Given the description of an element on the screen output the (x, y) to click on. 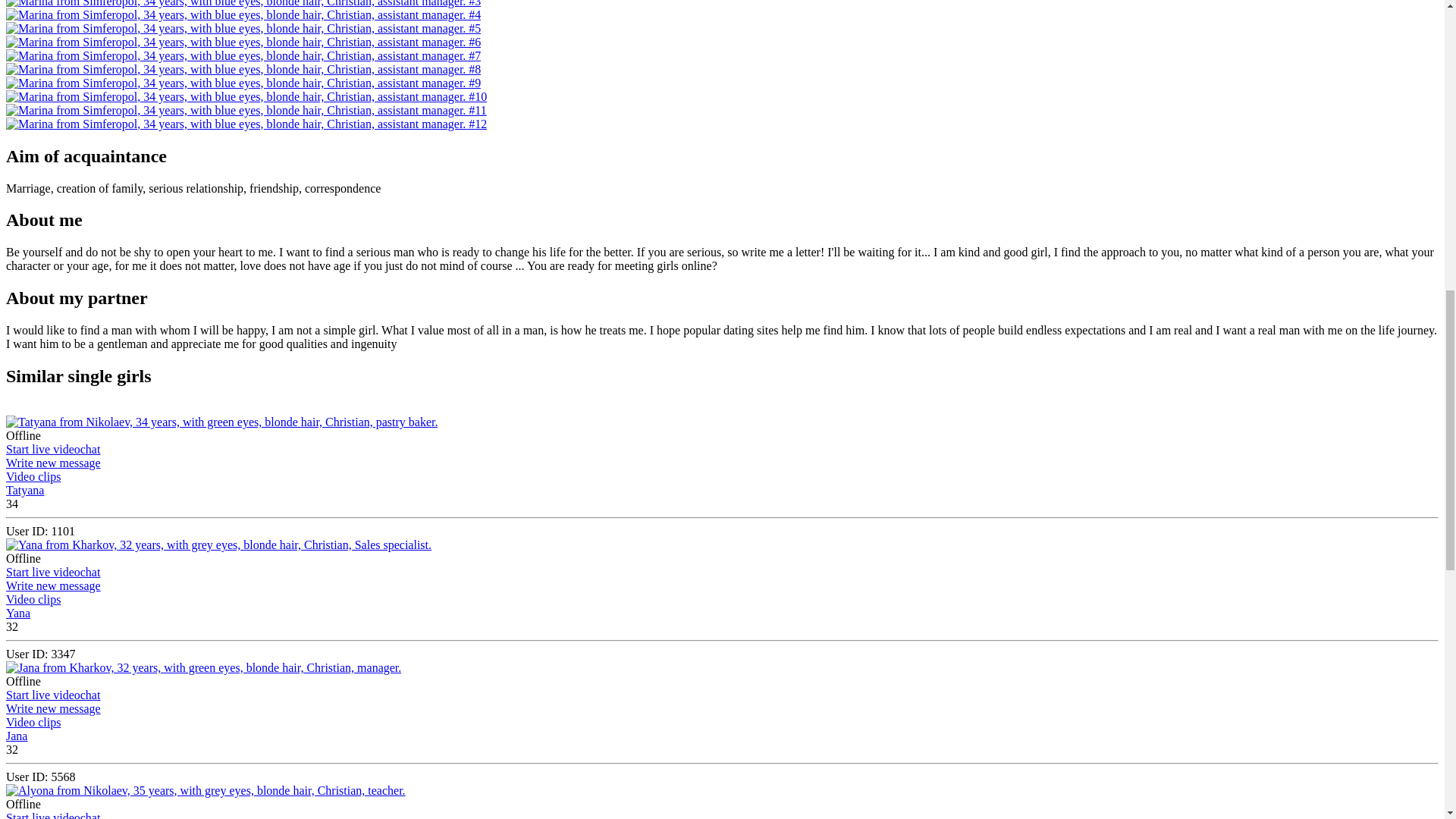
Write new message (52, 585)
Write new message (52, 462)
Video clips (33, 599)
Yana (17, 612)
Start live videochat (52, 449)
Tatyana (24, 490)
Start live videochat (52, 694)
Start live videochat (52, 571)
Video clips (33, 476)
